Given the description of an element on the screen output the (x, y) to click on. 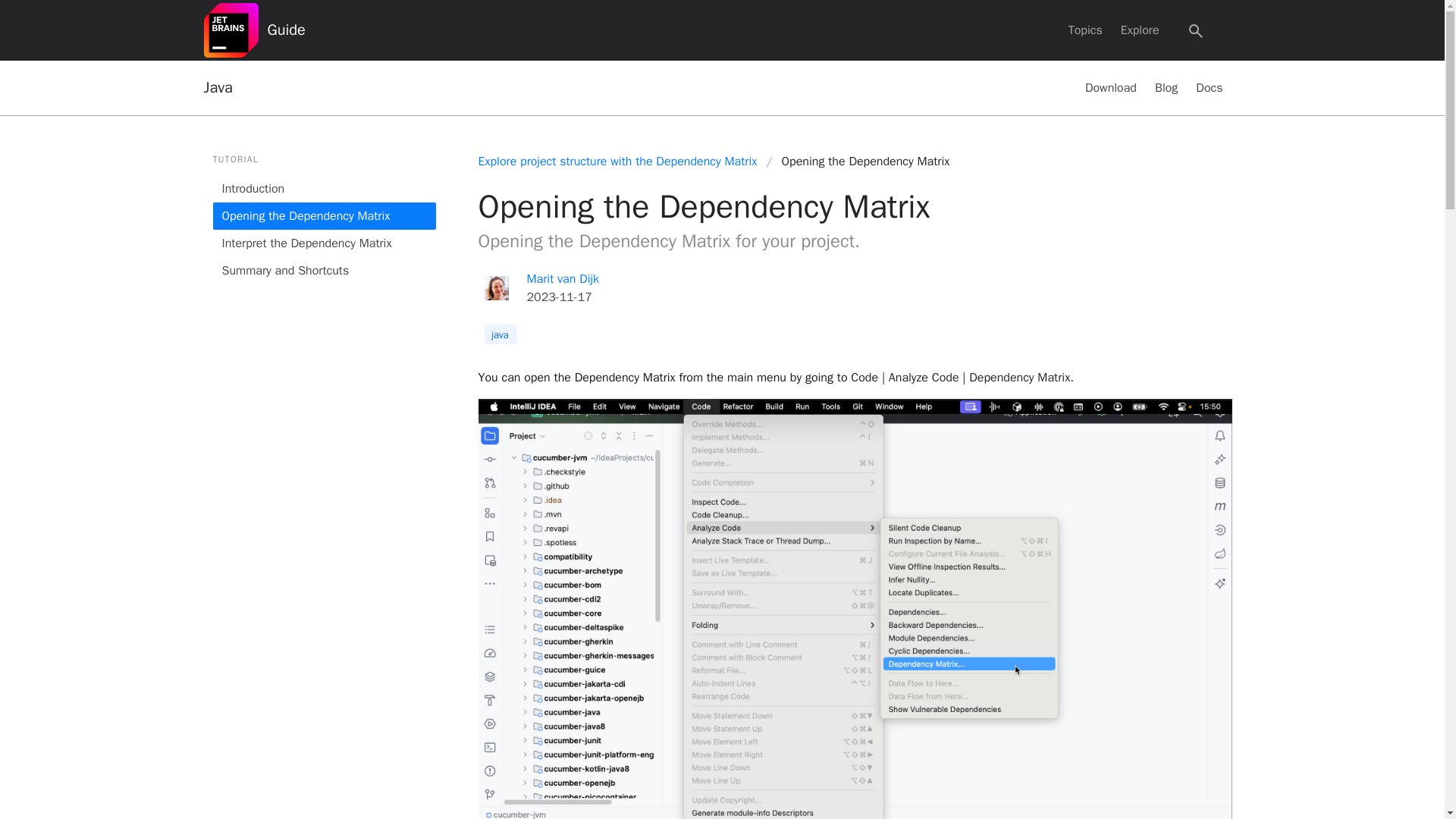
Marit van Dijk (561, 278)
Download (1110, 87)
Guide (285, 30)
Explore (1140, 30)
Opening the Dependency Matrix (323, 216)
java (499, 333)
Summary and Shortcuts (323, 270)
Opening the Dependency Matrix (866, 161)
Java (217, 87)
Introduction (323, 188)
Explore project structure with the Dependency Matrix (621, 161)
Interpret the Dependency Matrix (323, 243)
